Given the description of an element on the screen output the (x, y) to click on. 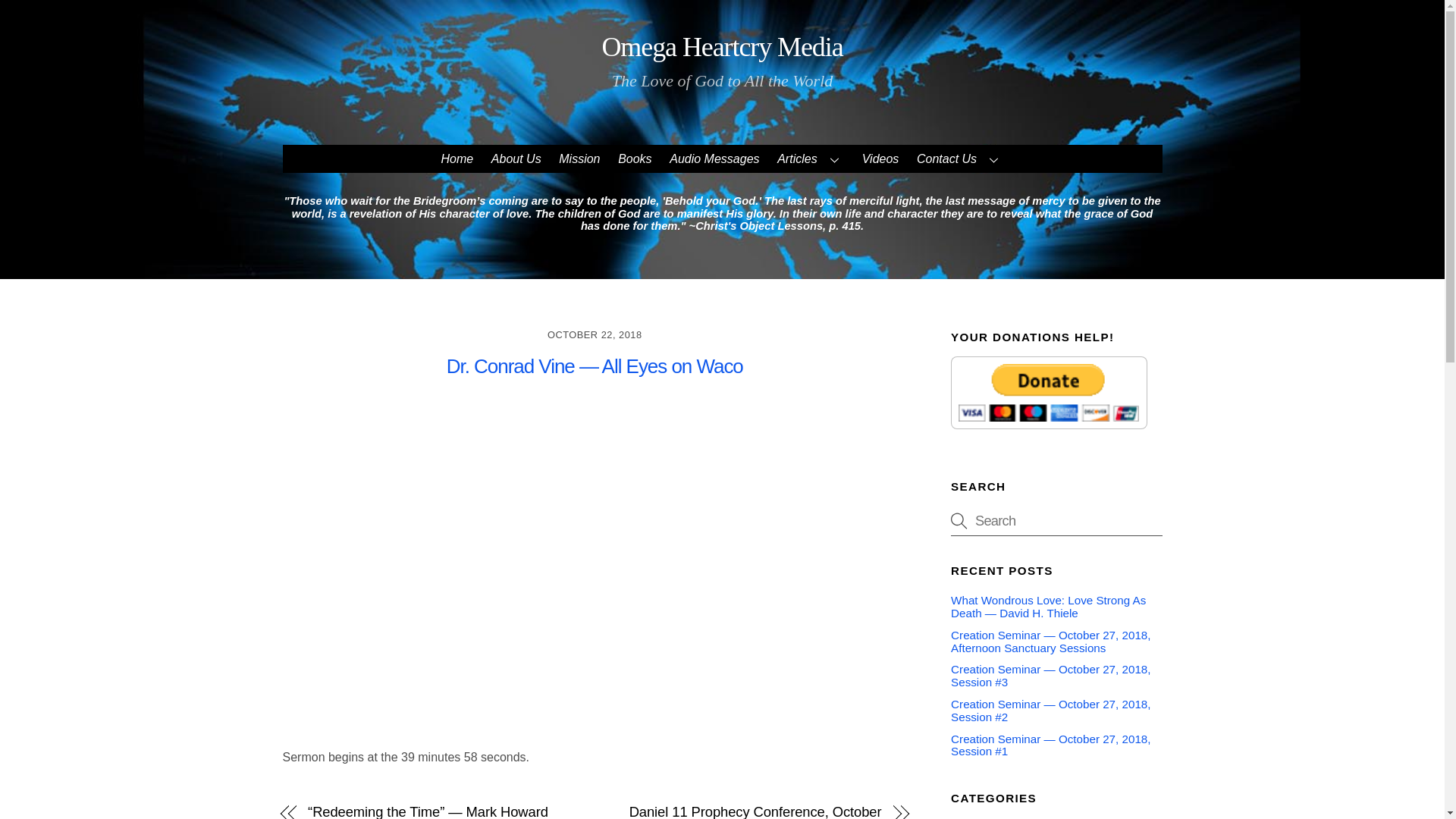
Videos (879, 158)
Omega Heartcry Media (722, 46)
Home (456, 158)
Contact Us (959, 158)
Audio Messages (714, 158)
Articles (810, 158)
Omega Heartcry Media (722, 46)
About Us (515, 158)
Search (1055, 520)
